Given the description of an element on the screen output the (x, y) to click on. 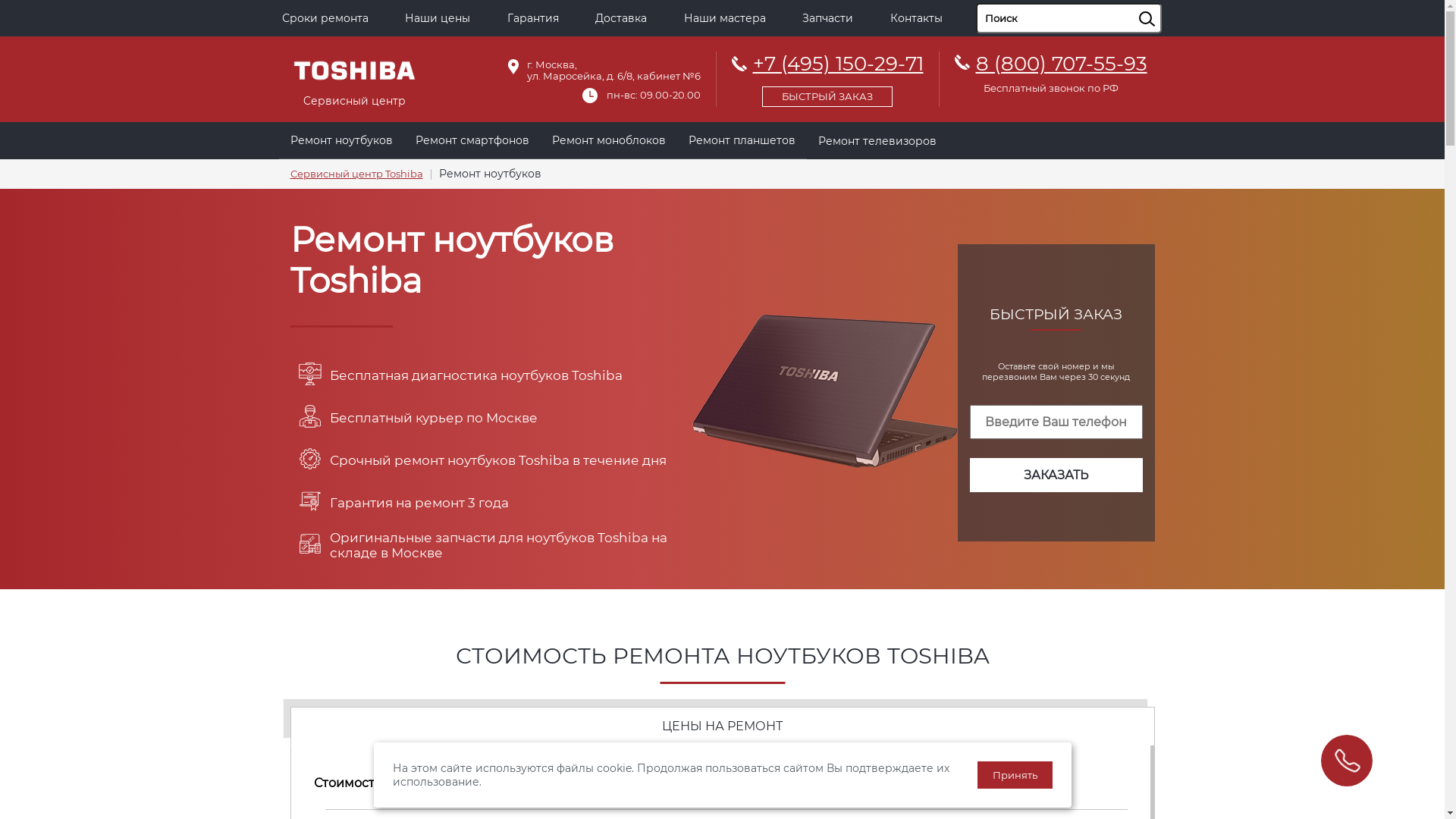
+7 (495) 150-29-71 Element type: text (826, 77)
8 (800) 707-55-93 Element type: text (1060, 63)
sisea.search Element type: text (1165, 3)
